Given the description of an element on the screen output the (x, y) to click on. 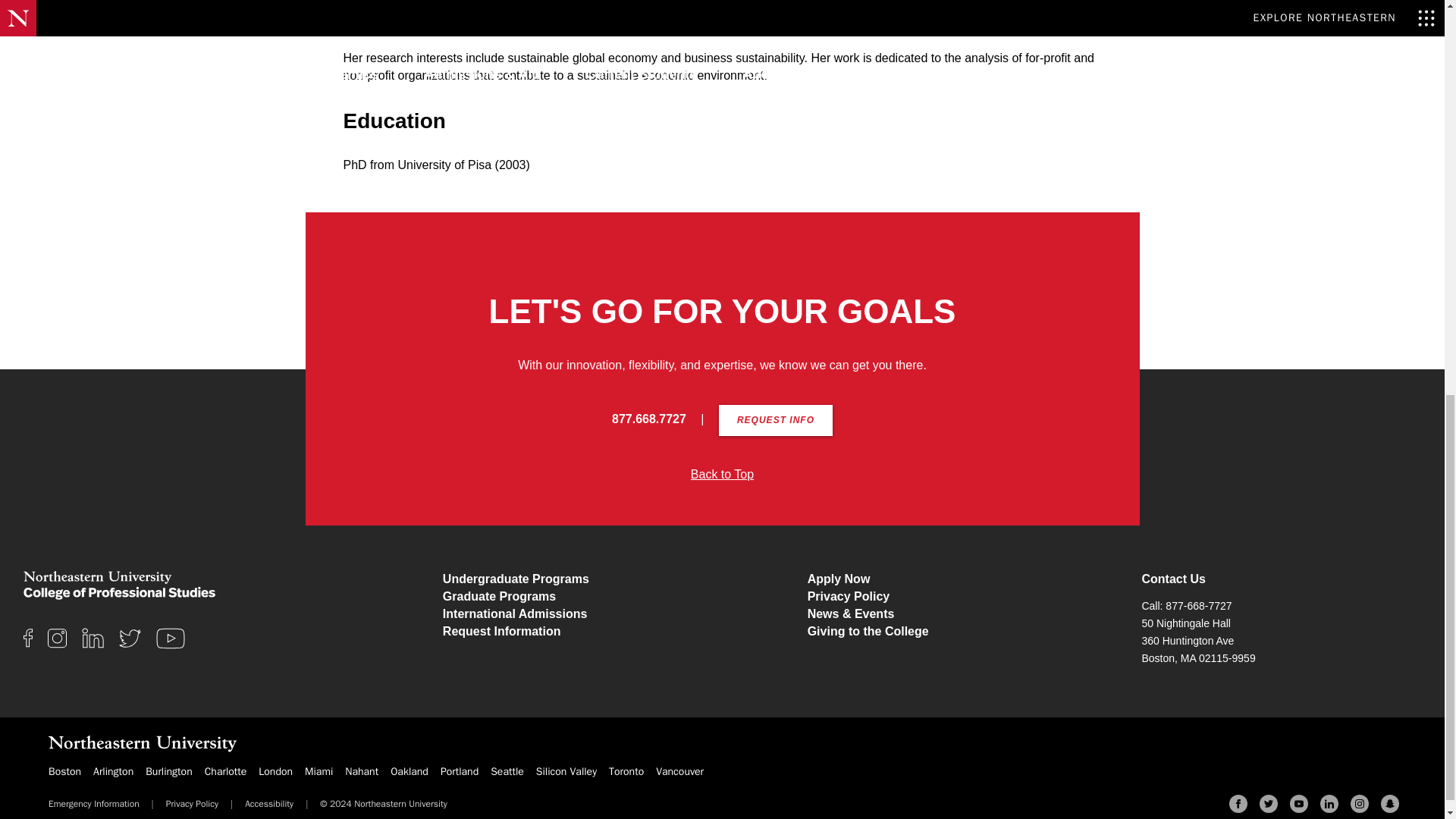
Instagram (1359, 803)
Linkedin (1329, 803)
Youtube (1298, 803)
Snapchat (1389, 803)
Twitter (1268, 803)
Facebook (1237, 803)
